Given the description of an element on the screen output the (x, y) to click on. 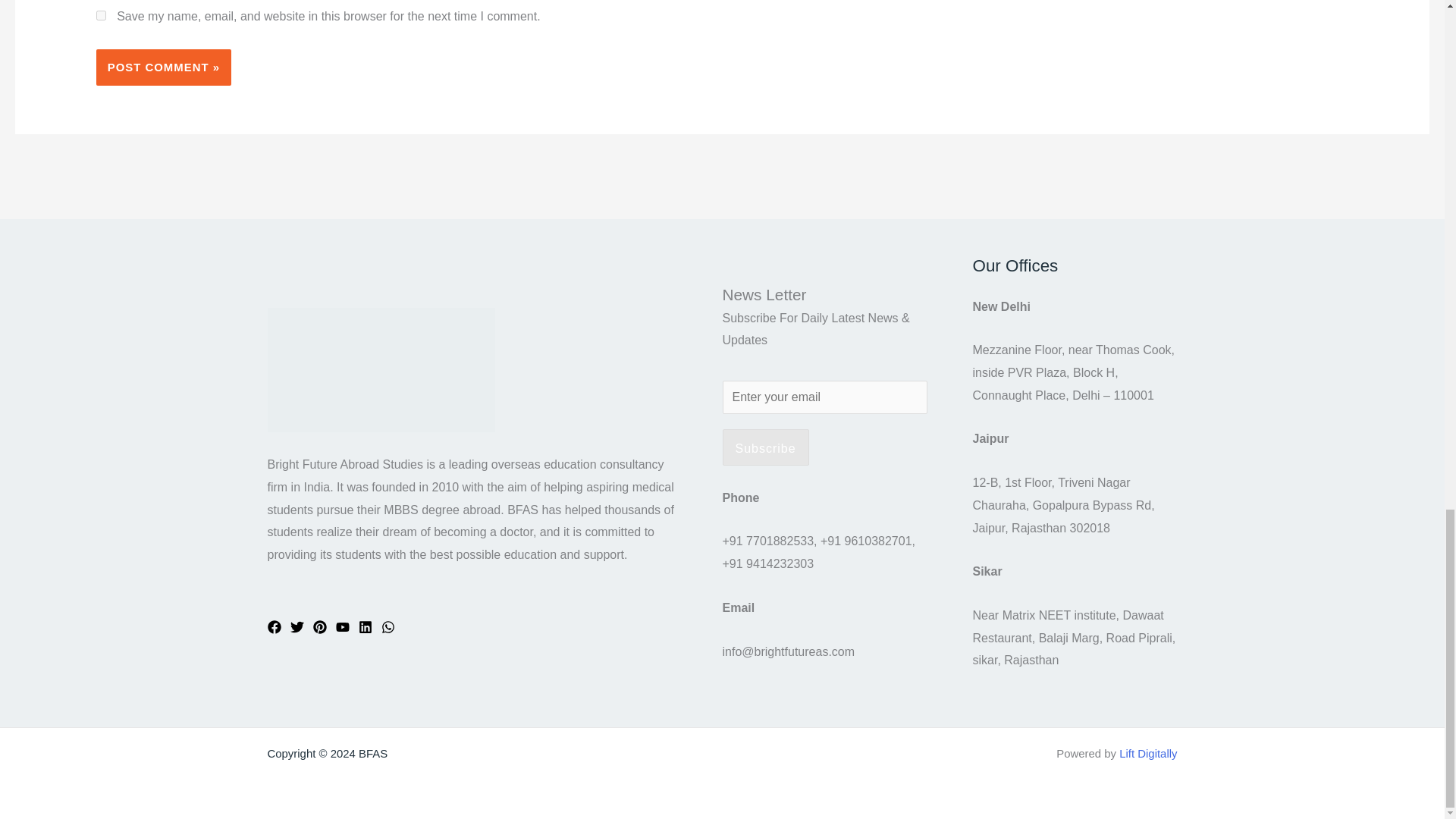
Subscribe (765, 447)
yes (101, 15)
Lift Digitally (1147, 753)
